Given the description of an element on the screen output the (x, y) to click on. 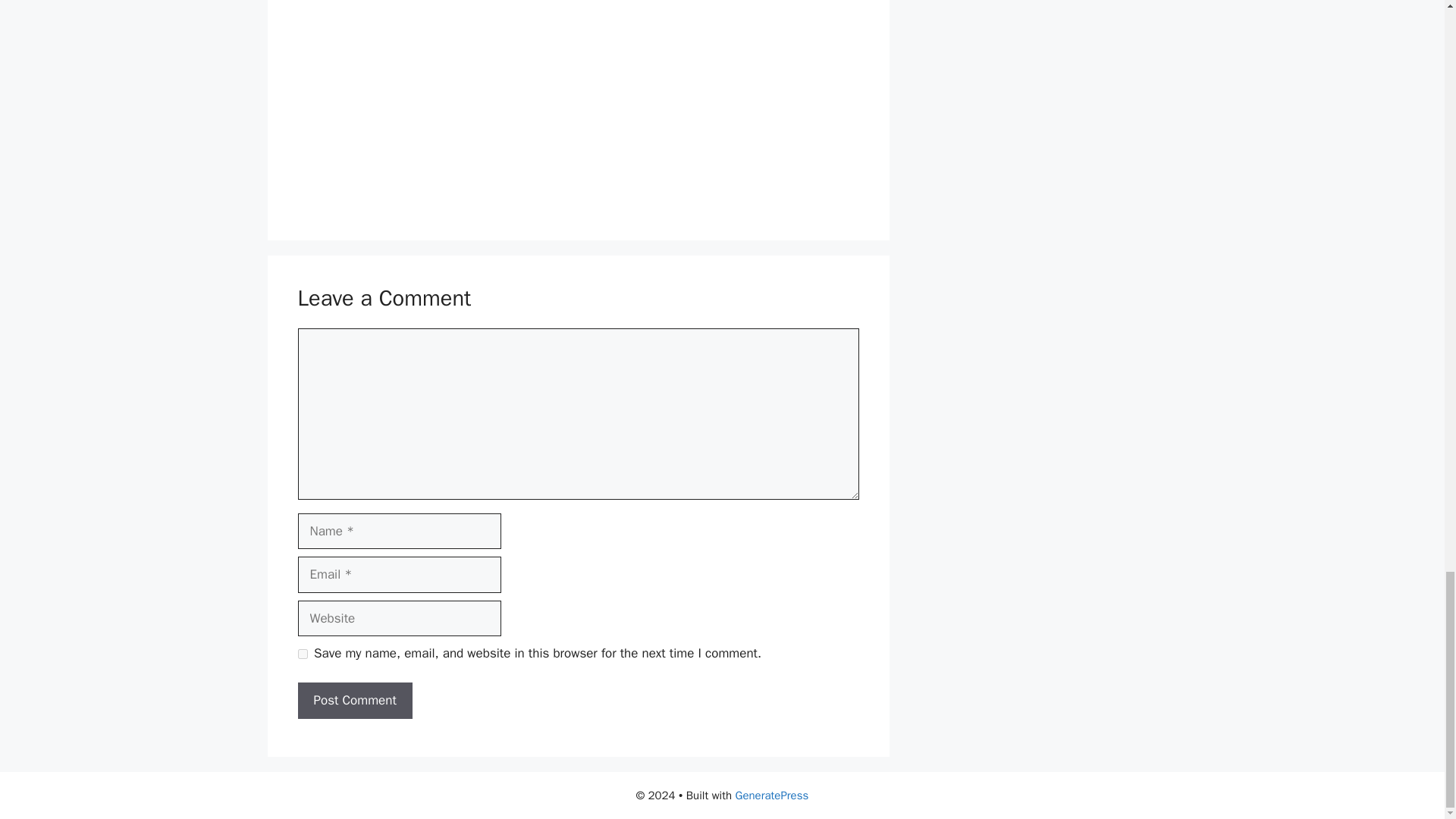
Post Comment (354, 700)
yes (302, 654)
Post Comment (354, 700)
GeneratePress (772, 795)
